Given the description of an element on the screen output the (x, y) to click on. 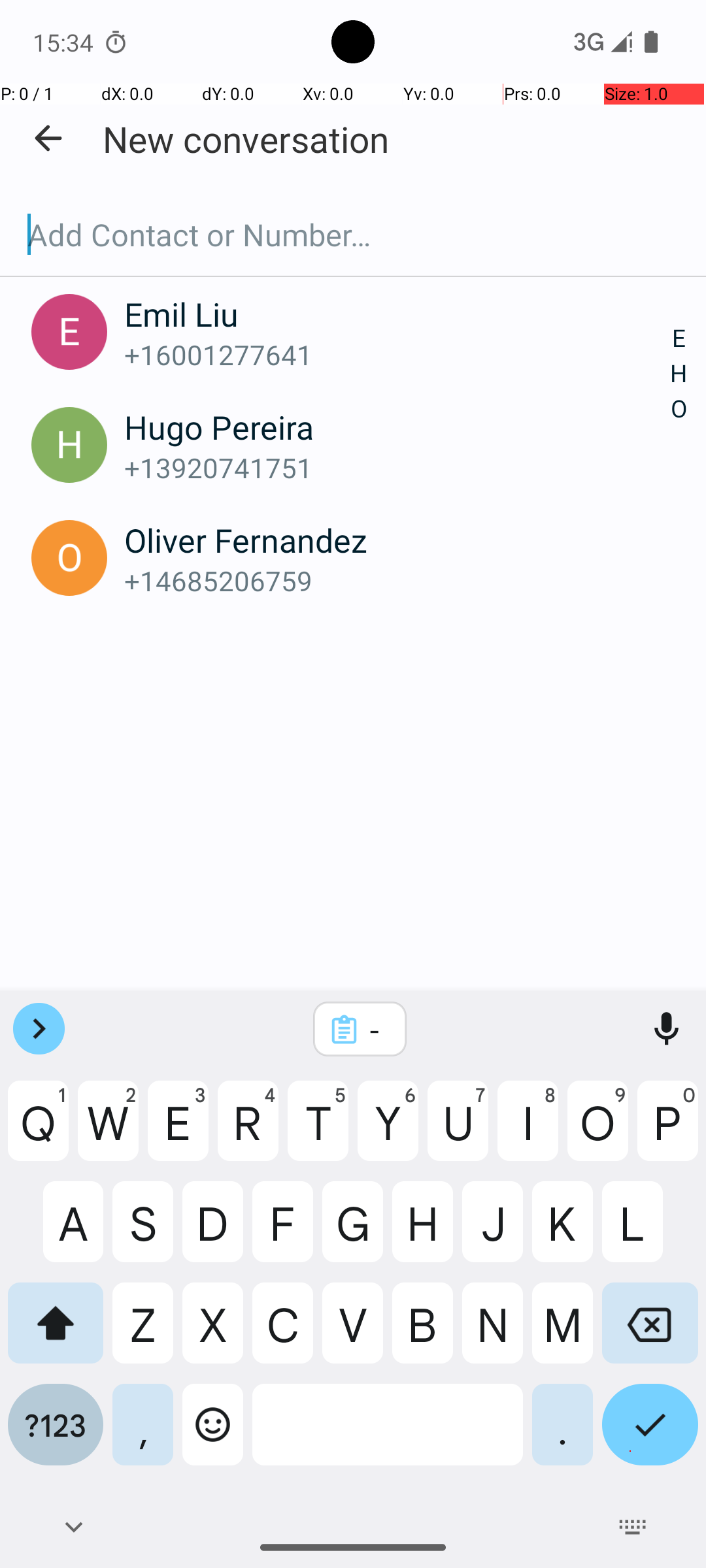
E
H
O Element type: android.widget.TextView (678, 373)
+16001277641 Element type: android.widget.TextView (397, 354)
+13920741751 Element type: android.widget.TextView (397, 467)
Oliver Fernandez Element type: android.widget.TextView (397, 539)
+14685206759 Element type: android.widget.TextView (397, 580)
